Given the description of an element on the screen output the (x, y) to click on. 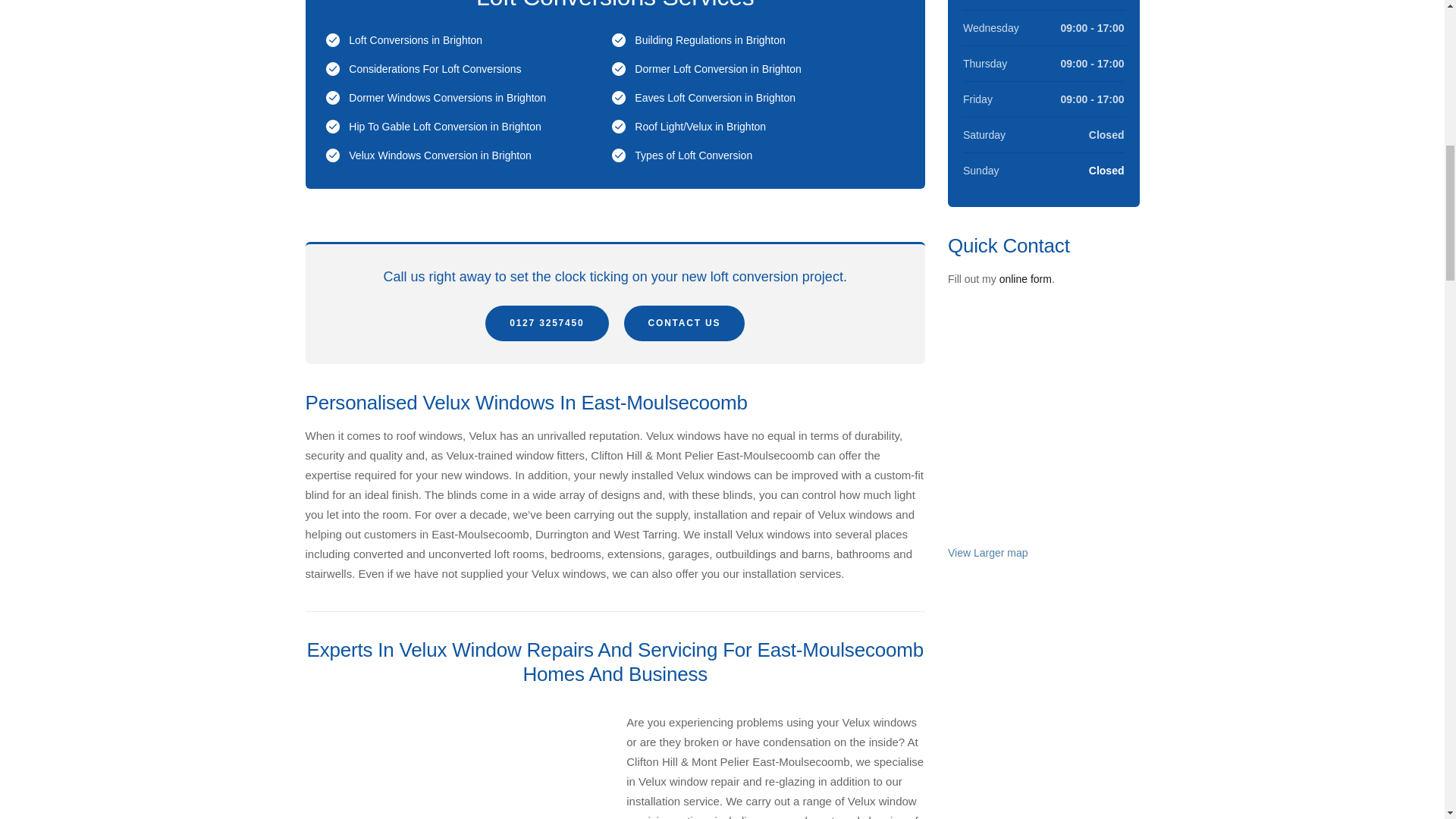
Types of Loft Conversion (693, 155)
Considerations For Loft Conversions (435, 69)
Velux Windows Conversion in Brighton (440, 155)
Eaves Loft Conversion in Brighton (714, 97)
Hip To Gable Loft Conversion in Brighton (444, 126)
Loft Conversions in Brighton (415, 39)
Dormer Windows Conversions in Brighton (447, 97)
Dormer Loft Conversion in Brighton (717, 69)
Building Regulations in Brighton (709, 39)
